Given the description of an element on the screen output the (x, y) to click on. 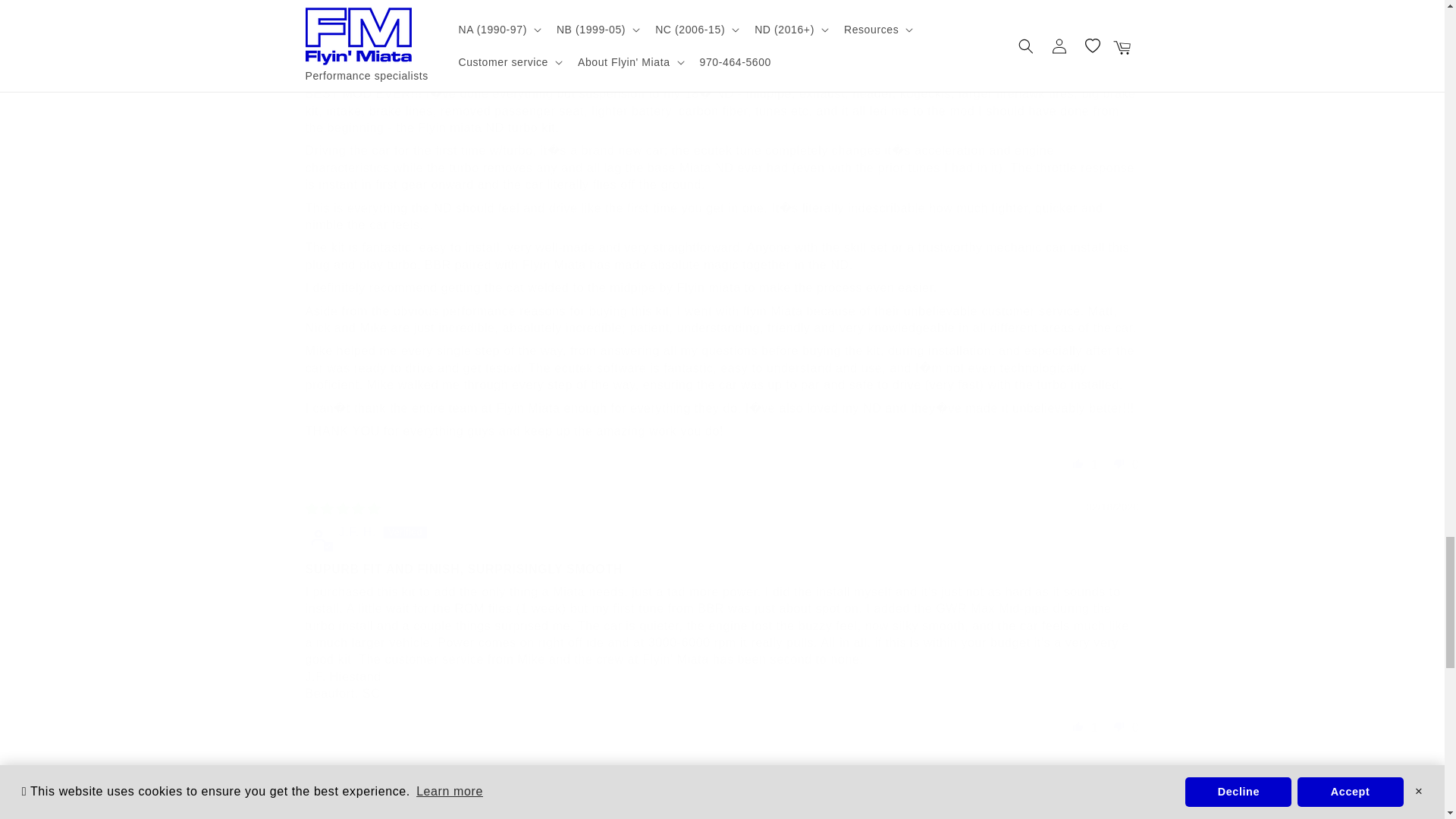
up (1077, 463)
down (1119, 463)
up (1077, 725)
down (1119, 725)
